Given the description of an element on the screen output the (x, y) to click on. 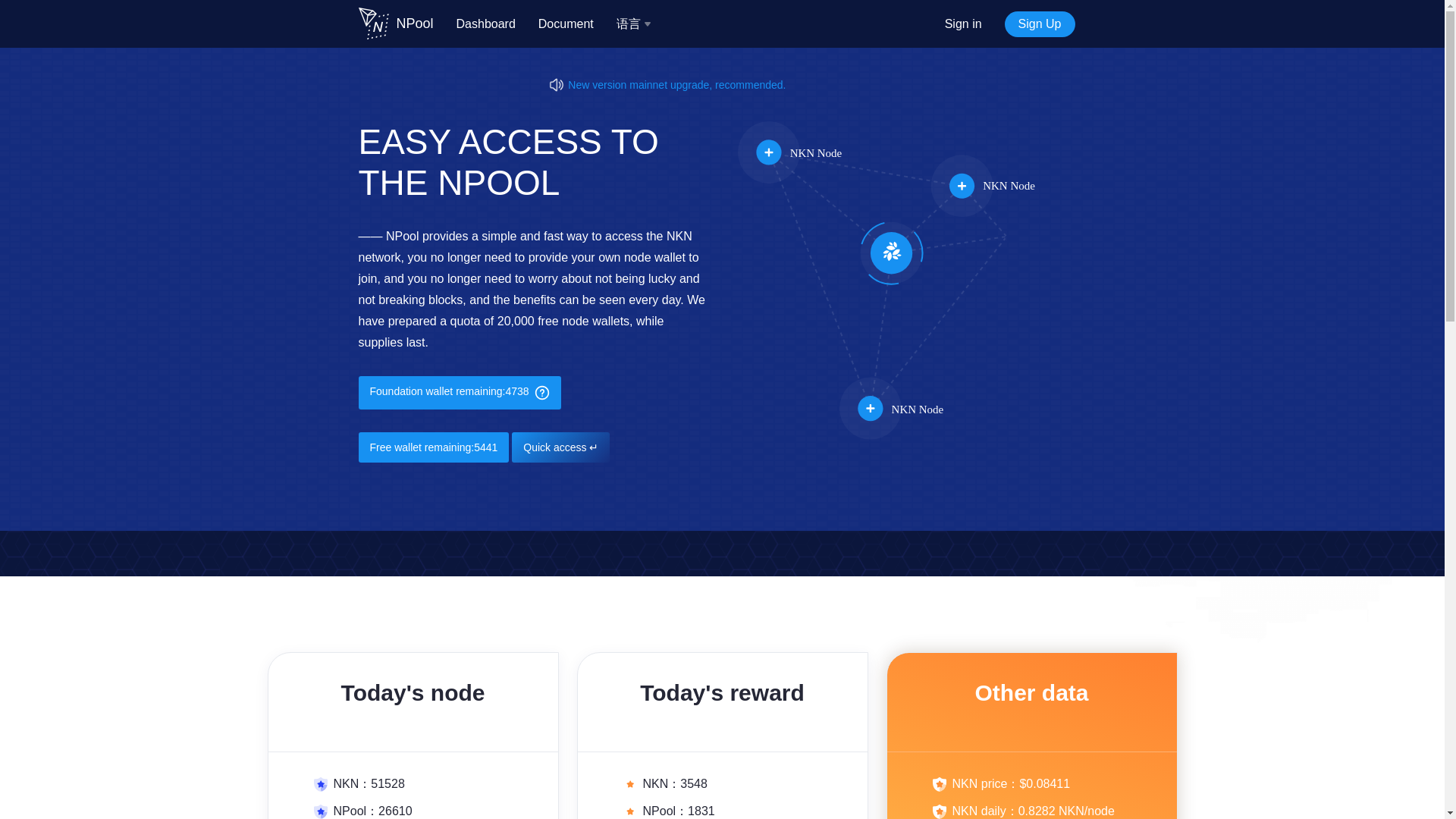
Foundation wallet remaining:4738   (459, 392)
Free wallet remaining:5441 (433, 447)
